Given the description of an element on the screen output the (x, y) to click on. 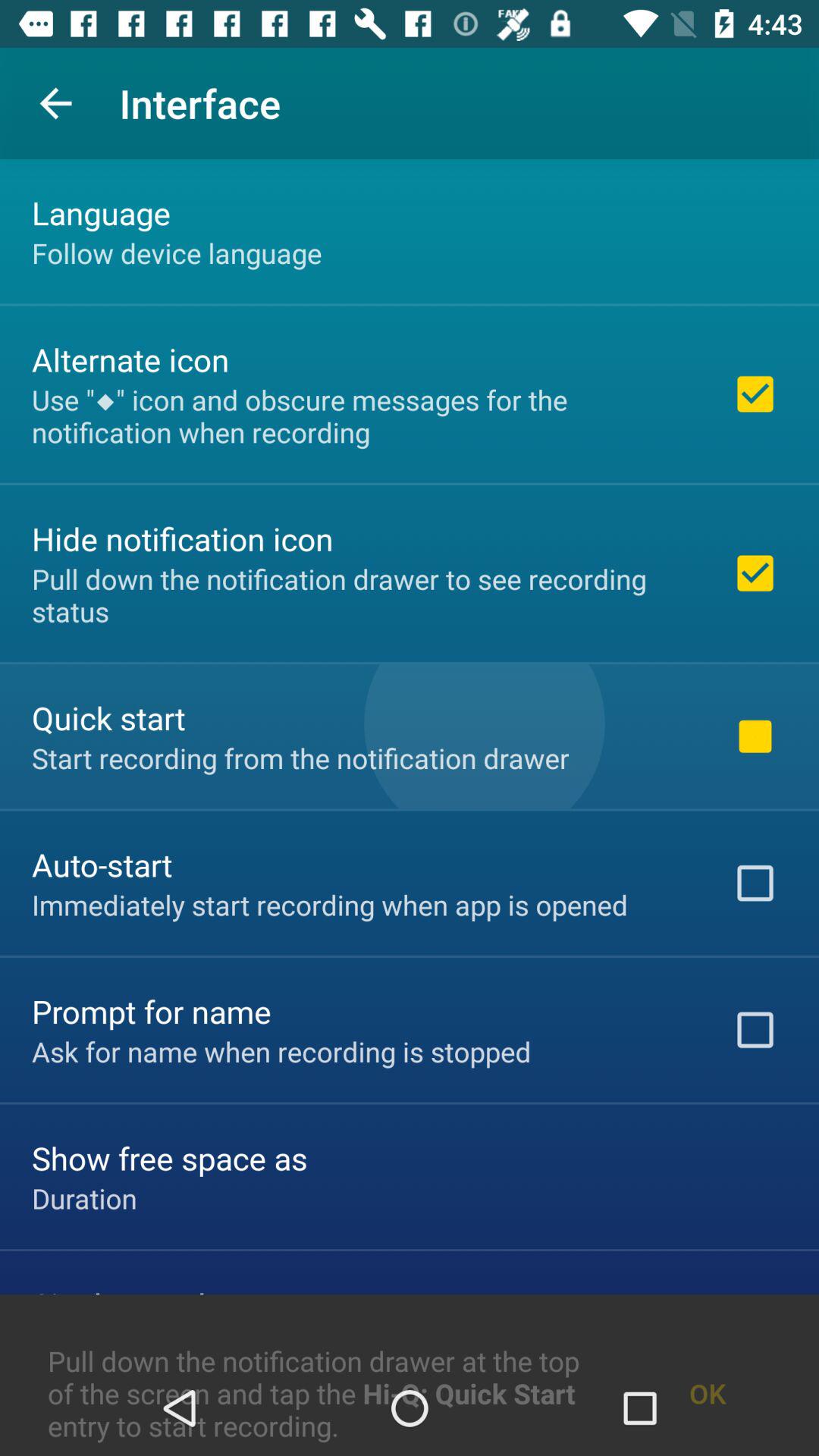
launch item below the language (176, 252)
